Given the description of an element on the screen output the (x, y) to click on. 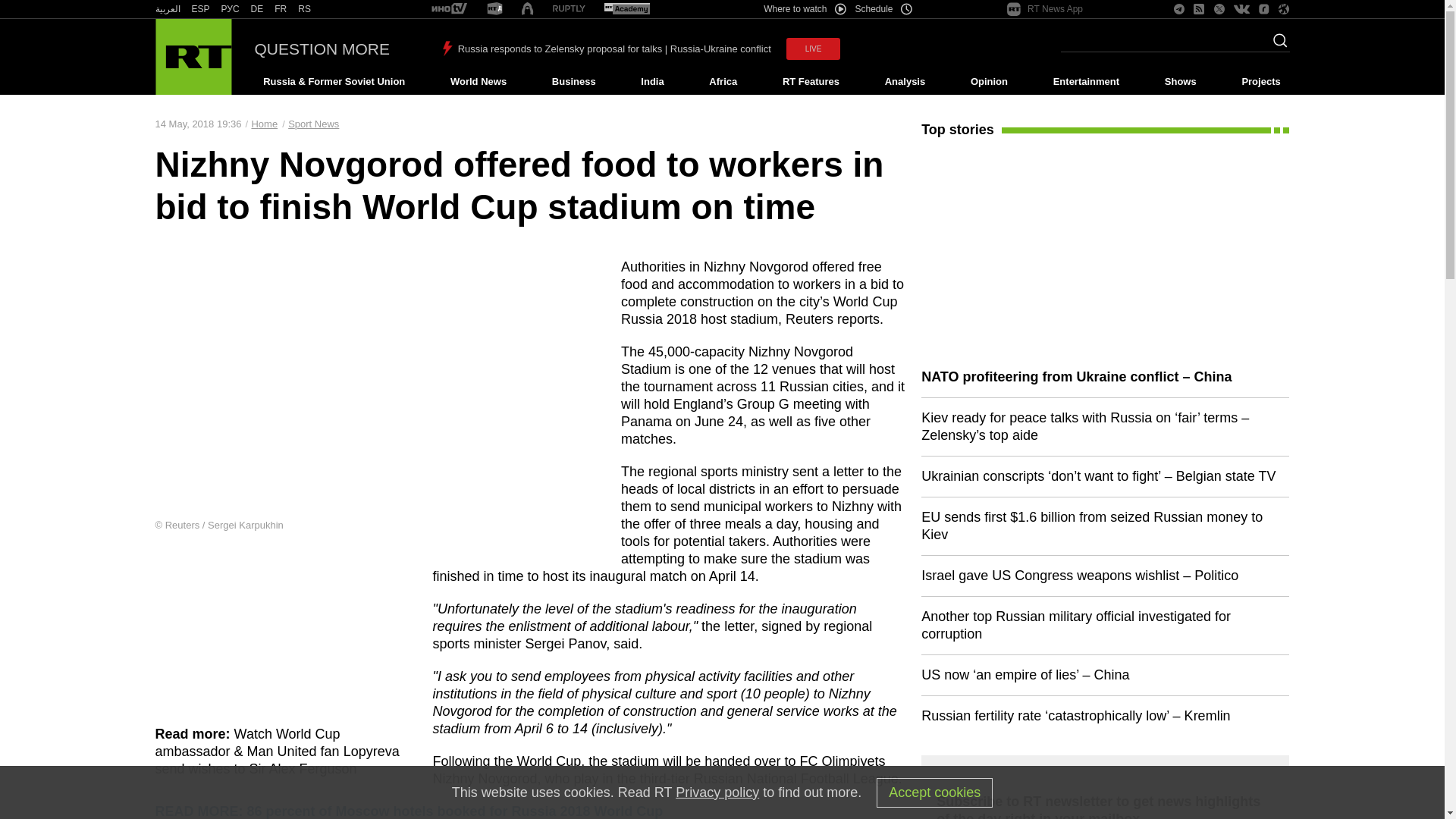
RT  (526, 9)
RT  (230, 9)
ESP (199, 9)
Africa (722, 81)
Schedule (884, 9)
Projects (1261, 81)
Where to watch (803, 9)
RT  (569, 8)
India (651, 81)
World News (478, 81)
Entertainment (1085, 81)
FR (280, 9)
RT News App (1045, 9)
RS (304, 9)
RT  (304, 9)
